Given the description of an element on the screen output the (x, y) to click on. 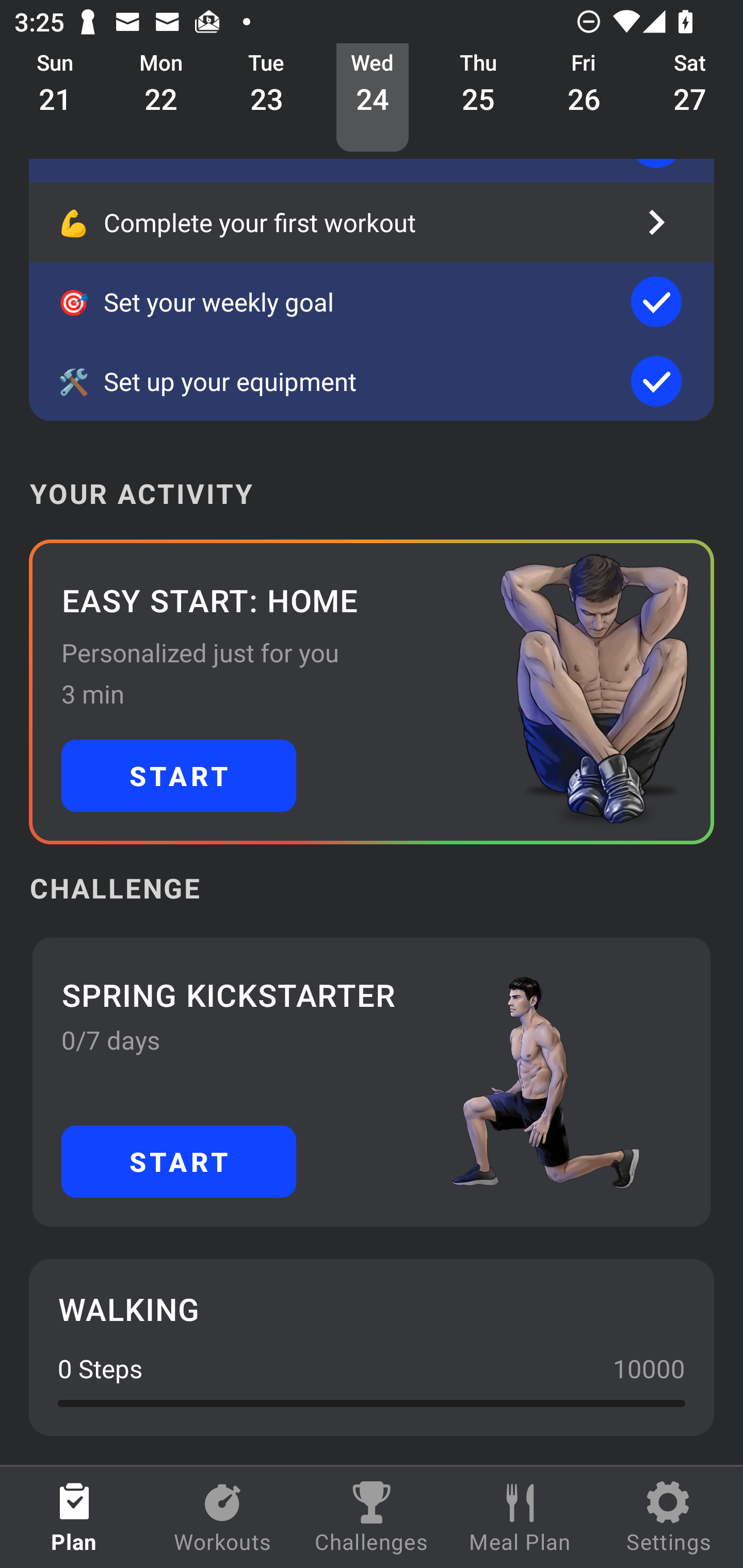
Sun 21 (55, 97)
Mon 22 (160, 97)
Tue 23 (266, 97)
Wed 24 (372, 97)
Thu 25 (478, 97)
Fri 26 (584, 97)
Sat 27 (690, 97)
💪 Complete your first workout (371, 221)
START (178, 776)
SPRING KICKSTARTER 0/7 days START (371, 1082)
START (178, 1161)
WALKING 0 Steps 10000 0.0 (371, 1347)
 Workouts  (222, 1517)
 Challenges  (371, 1517)
 Meal Plan  (519, 1517)
 Settings  (668, 1517)
